Given the description of an element on the screen output the (x, y) to click on. 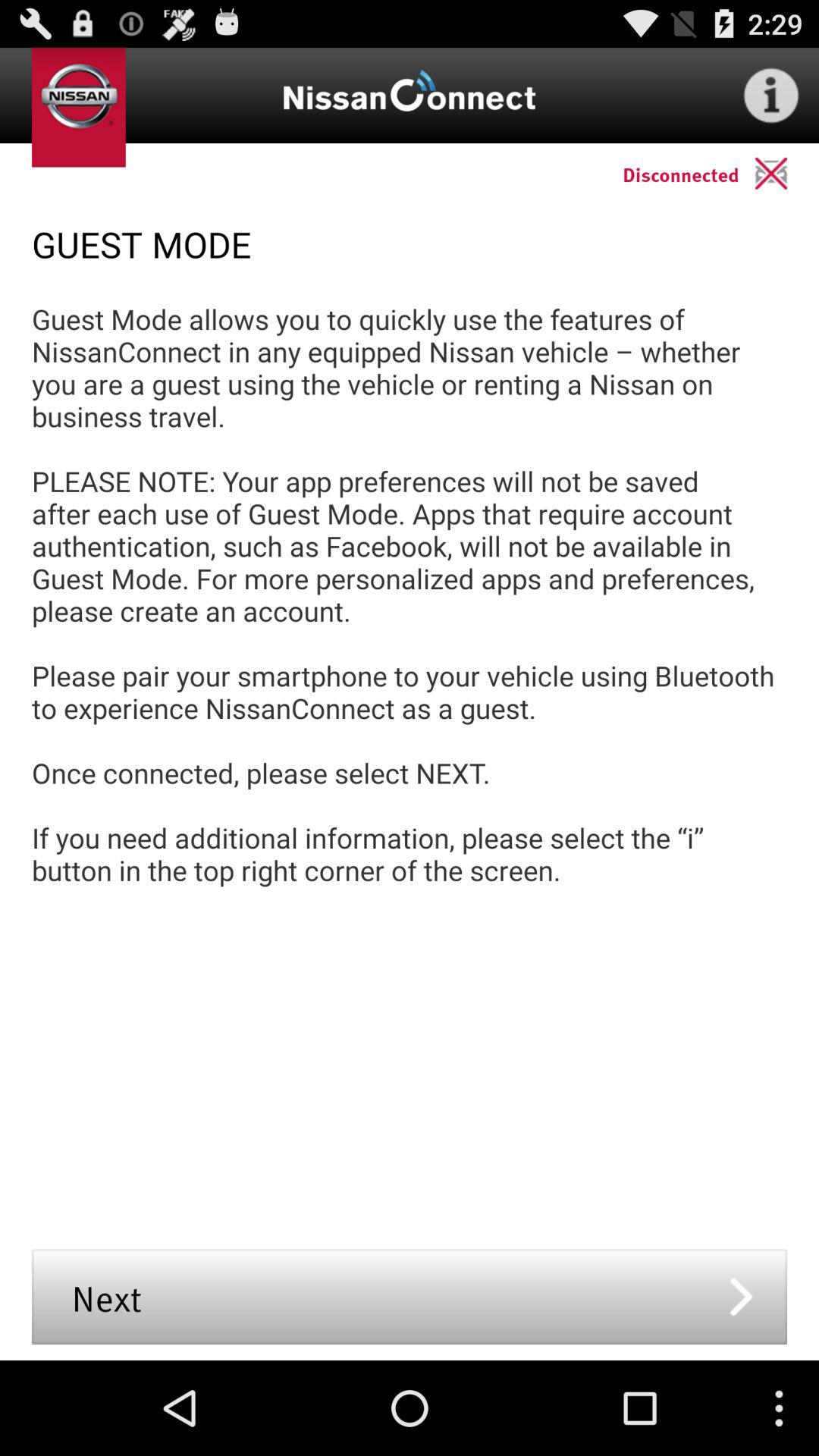
information (771, 95)
